Given the description of an element on the screen output the (x, y) to click on. 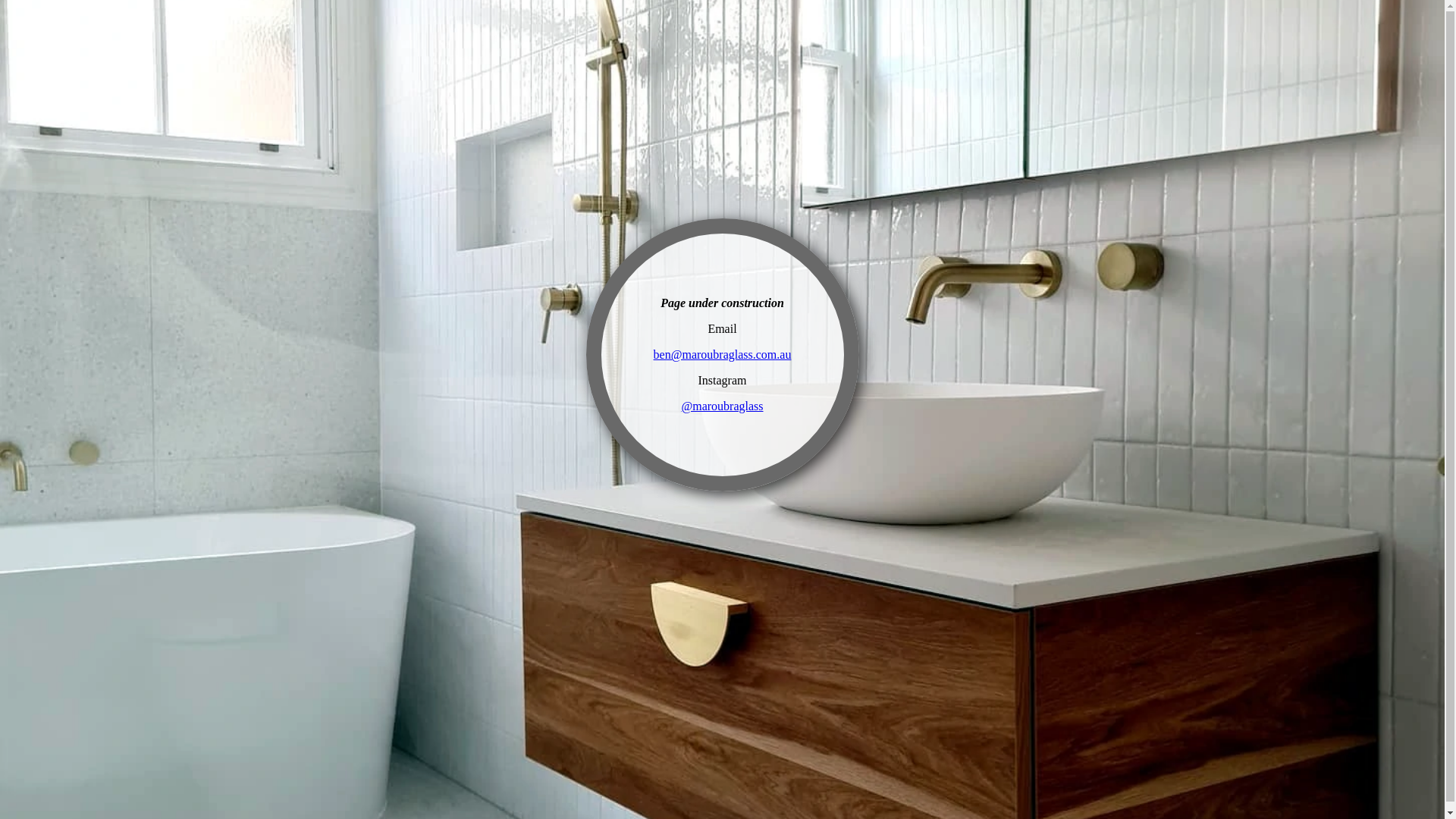
ben@maroubraglass.com.au Element type: text (722, 354)
@maroubraglass Element type: text (721, 405)
